Given the description of an element on the screen output the (x, y) to click on. 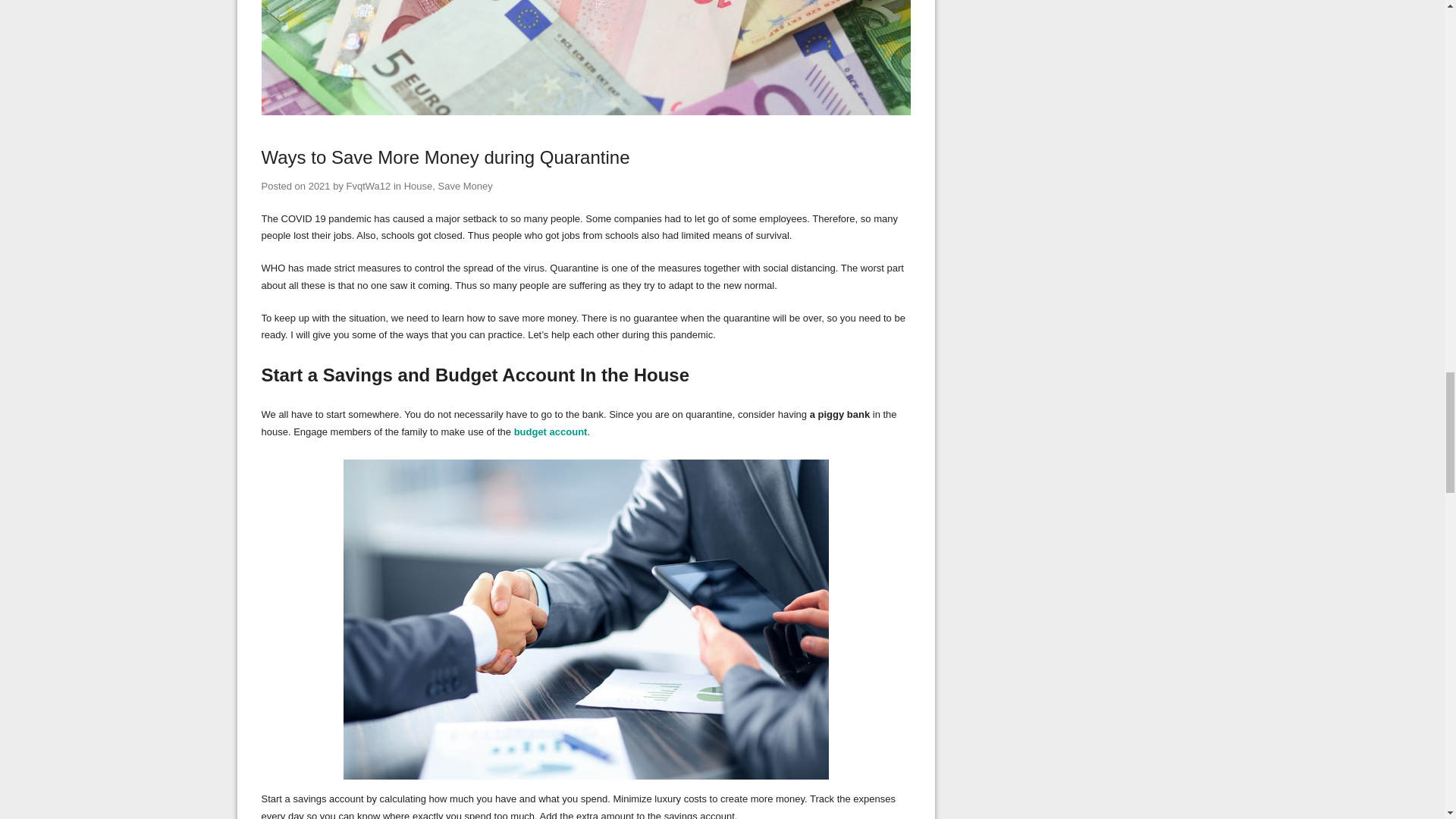
Ways to Save More Money during Quarantine (319, 185)
Ways to Save More Money during Quarantine (444, 157)
Ways to Save More Money during Quarantine (585, 111)
View all posts by FvqtWa12 (368, 185)
